Given the description of an element on the screen output the (x, y) to click on. 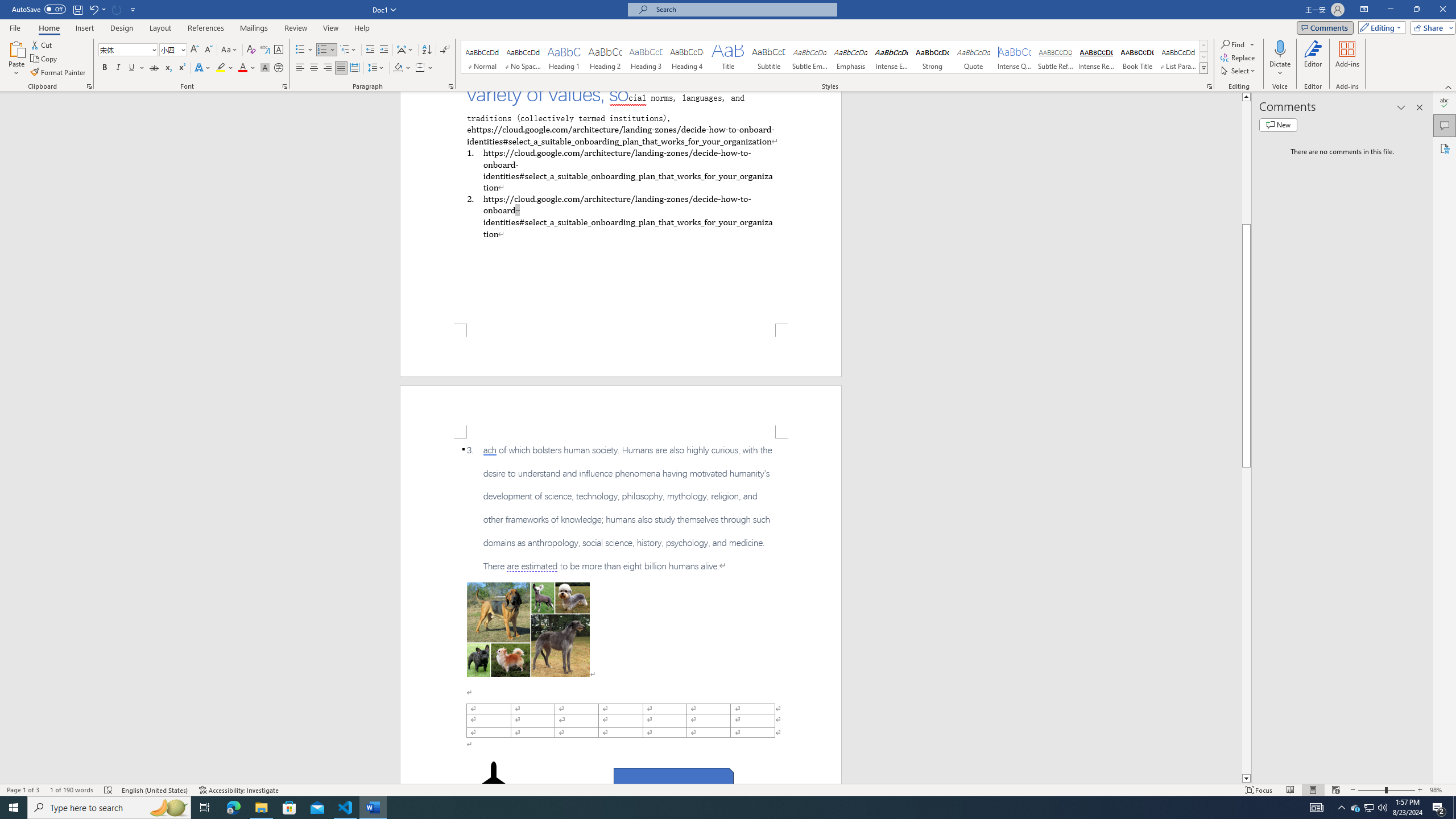
Subscript (167, 67)
Title (727, 56)
Intense Reference (1095, 56)
Page Number Page 1 of 3 (22, 790)
Subtitle (768, 56)
Align Right (327, 67)
Row up (1203, 45)
